Given the description of an element on the screen output the (x, y) to click on. 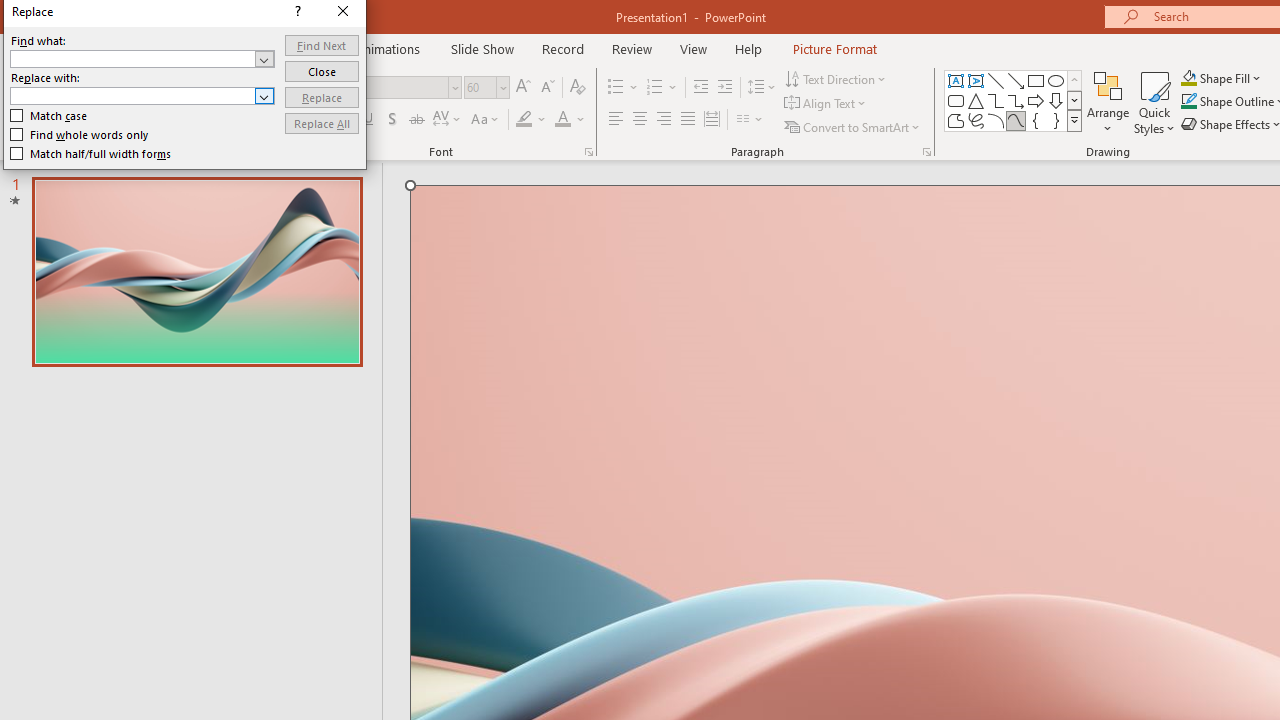
Rectangle: Rounded Corners (955, 100)
Oval (1055, 80)
Change Case (486, 119)
Shadow (392, 119)
Match case (49, 115)
Find what (132, 58)
Character Spacing (447, 119)
Freeform: Shape (955, 120)
Align Left (616, 119)
Find Next (321, 44)
AutomationID: ShapesInsertGallery (1014, 100)
Left Brace (1035, 120)
